Given the description of an element on the screen output the (x, y) to click on. 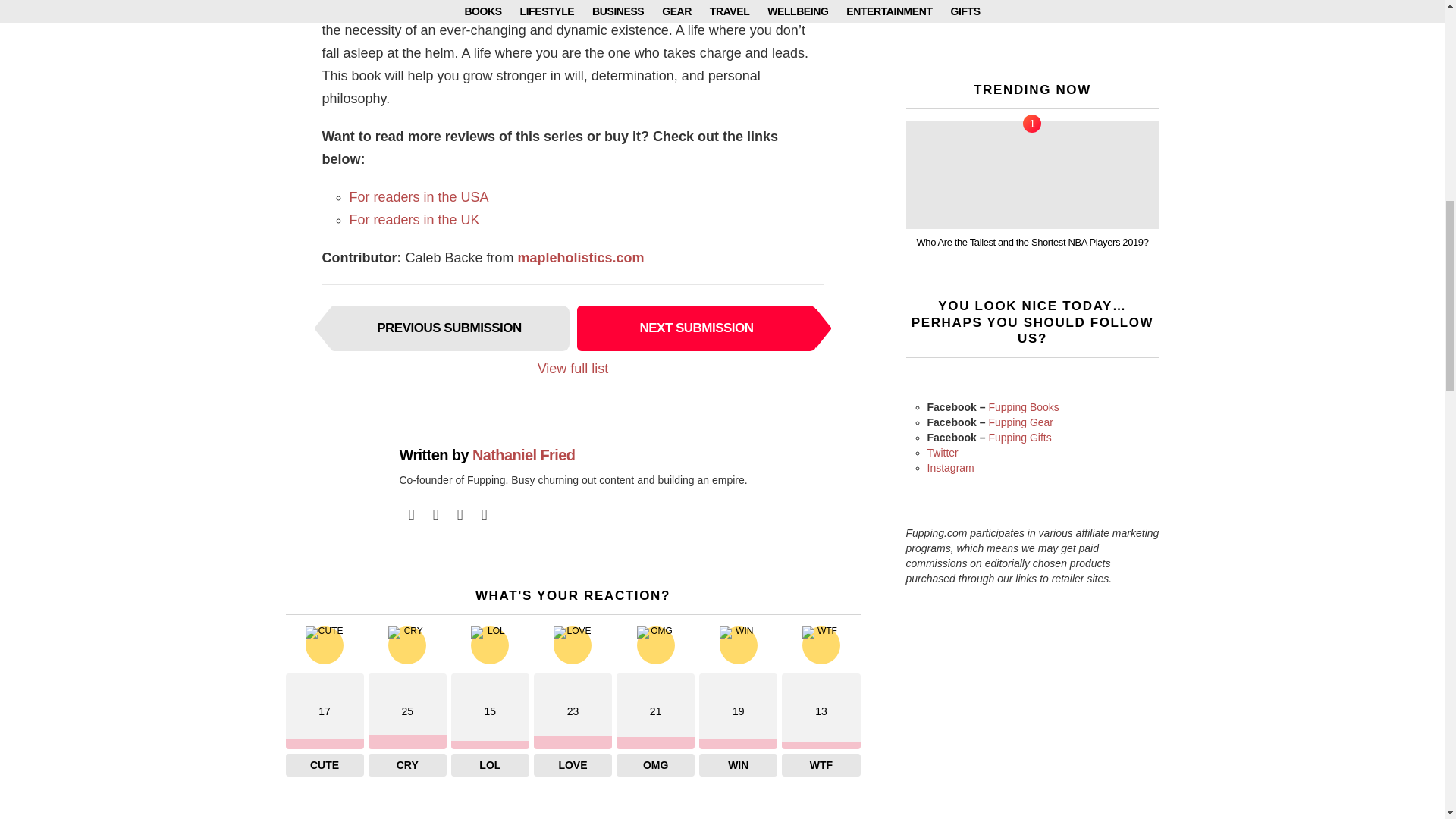
NEXT SUBMISSION (695, 328)
For readers in the UK (414, 219)
PREVIOUS SUBMISSION (449, 328)
mapleholistics.com (581, 257)
For readers in the USA (418, 196)
Who Are the Tallest and the Shortest NBA Players 2019? (1031, 174)
